Given the description of an element on the screen output the (x, y) to click on. 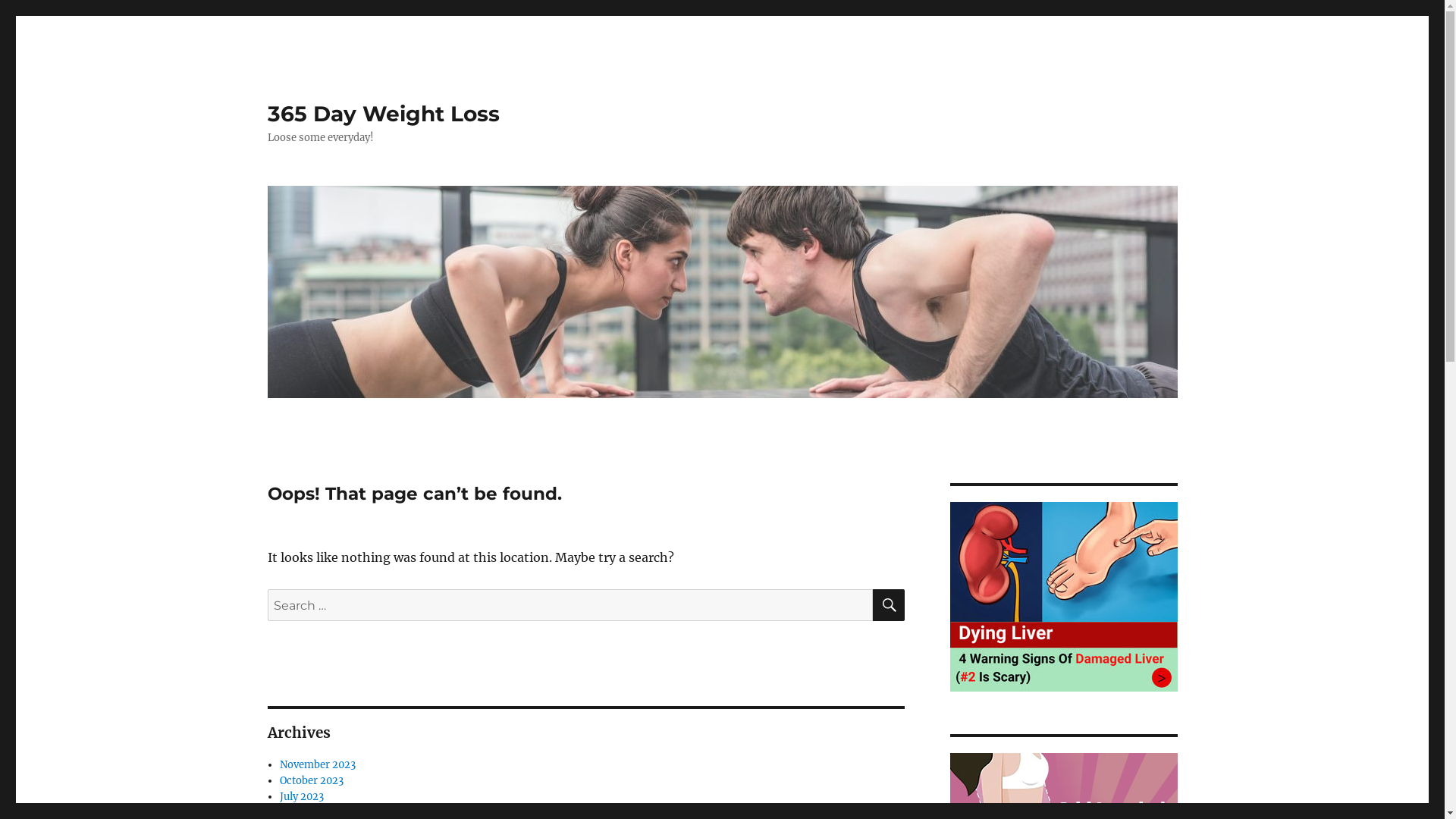
October 2023 Element type: text (311, 780)
November 2023 Element type: text (317, 764)
365 Day Weight Loss Element type: text (382, 113)
SEARCH Element type: text (887, 605)
July 2023 Element type: text (301, 796)
